Given the description of an element on the screen output the (x, y) to click on. 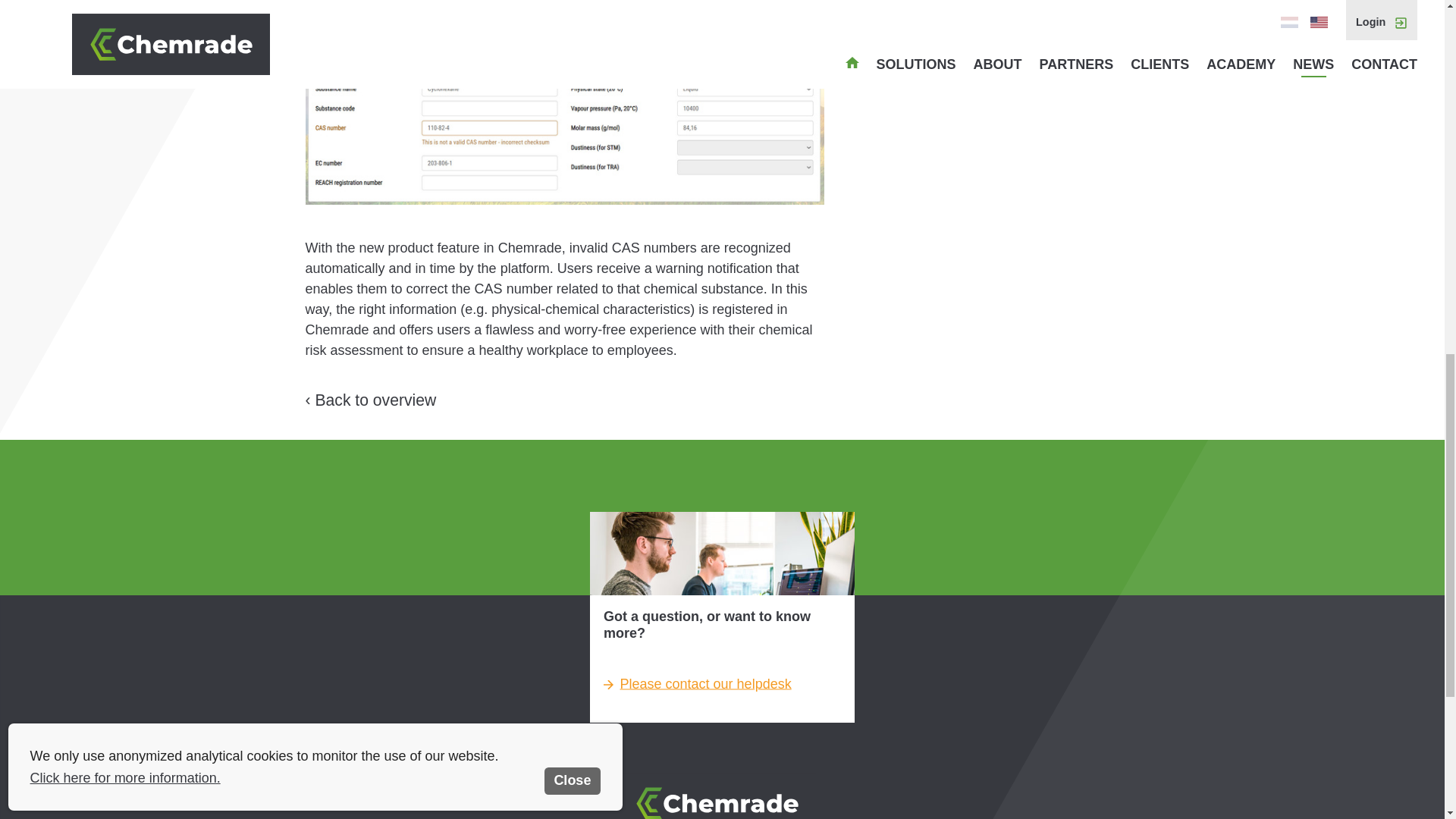
Chemrade Software BV (722, 796)
